Given the description of an element on the screen output the (x, y) to click on. 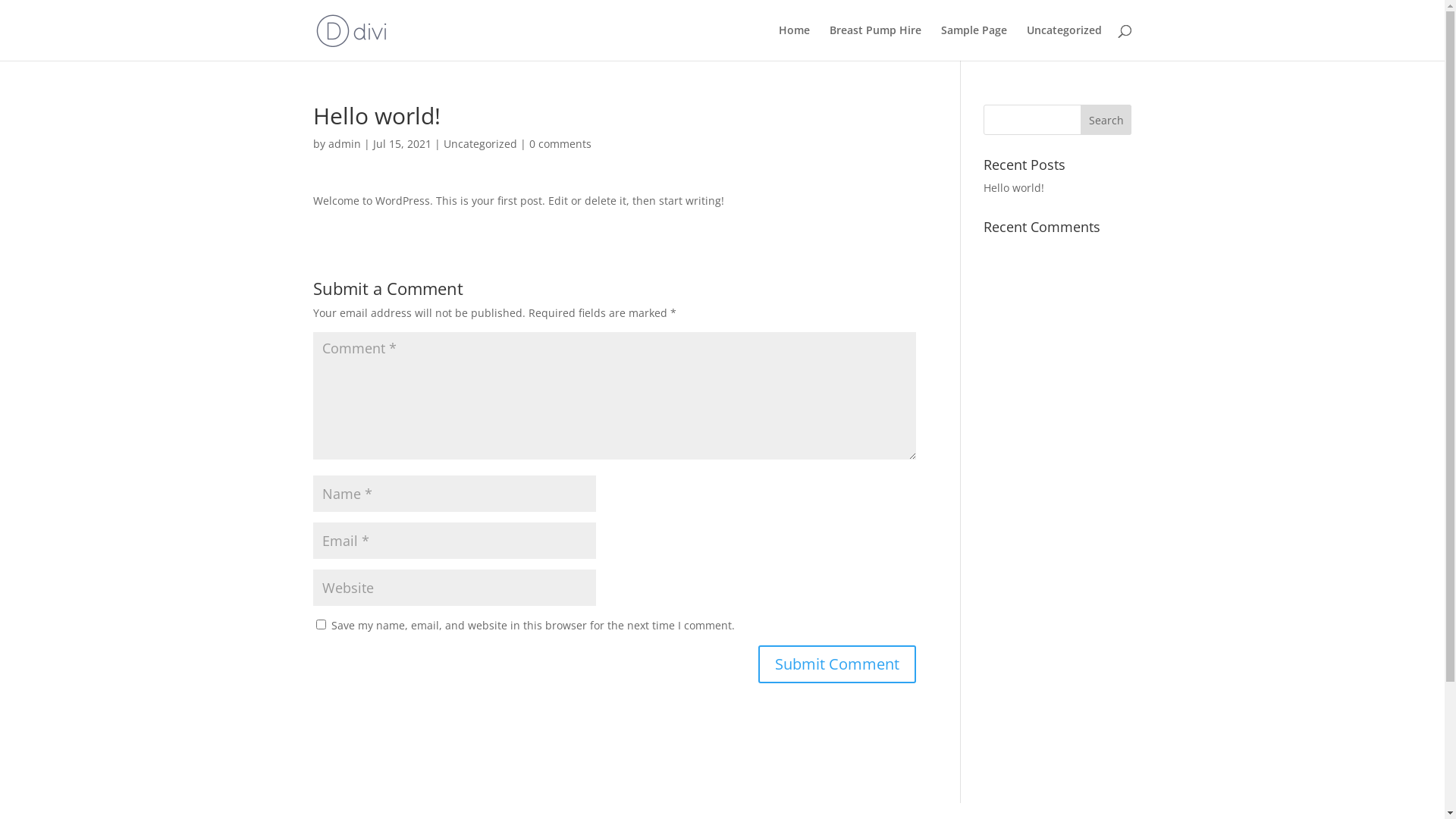
admin Element type: text (343, 143)
Hello world! Element type: text (1013, 187)
0 comments Element type: text (560, 143)
Sample Page Element type: text (973, 42)
Submit Comment Element type: text (837, 664)
Search Element type: text (1106, 119)
Breast Pump Hire Element type: text (875, 42)
Uncategorized Element type: text (1063, 42)
Home Element type: text (793, 42)
Uncategorized Element type: text (479, 143)
